Given the description of an element on the screen output the (x, y) to click on. 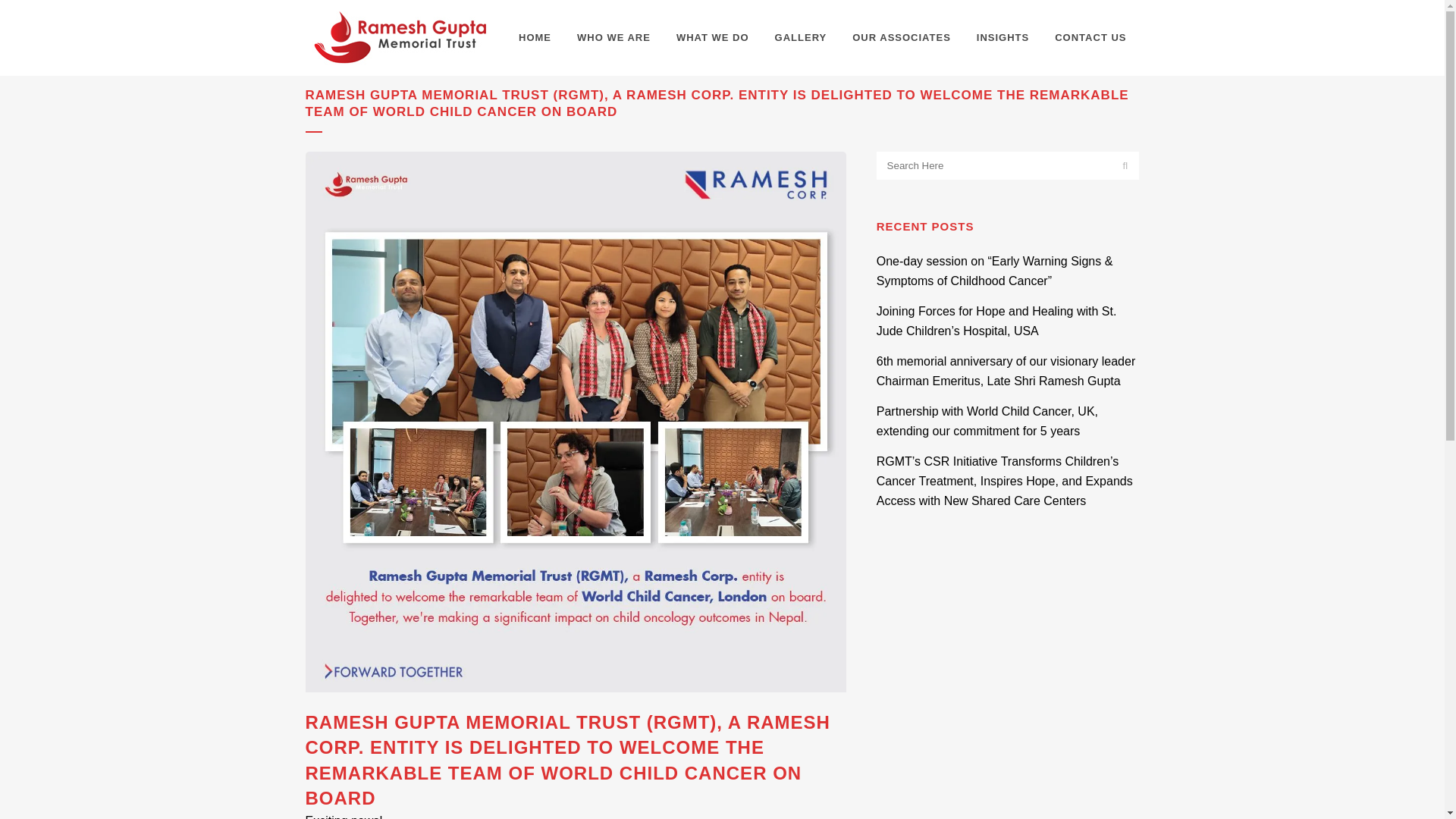
WHO WE ARE (613, 38)
INSIGHTS (1002, 38)
CONTACT US (1090, 38)
OUR ASSOCIATES (901, 38)
WHAT WE DO (712, 38)
GALLERY (800, 38)
